Given the description of an element on the screen output the (x, y) to click on. 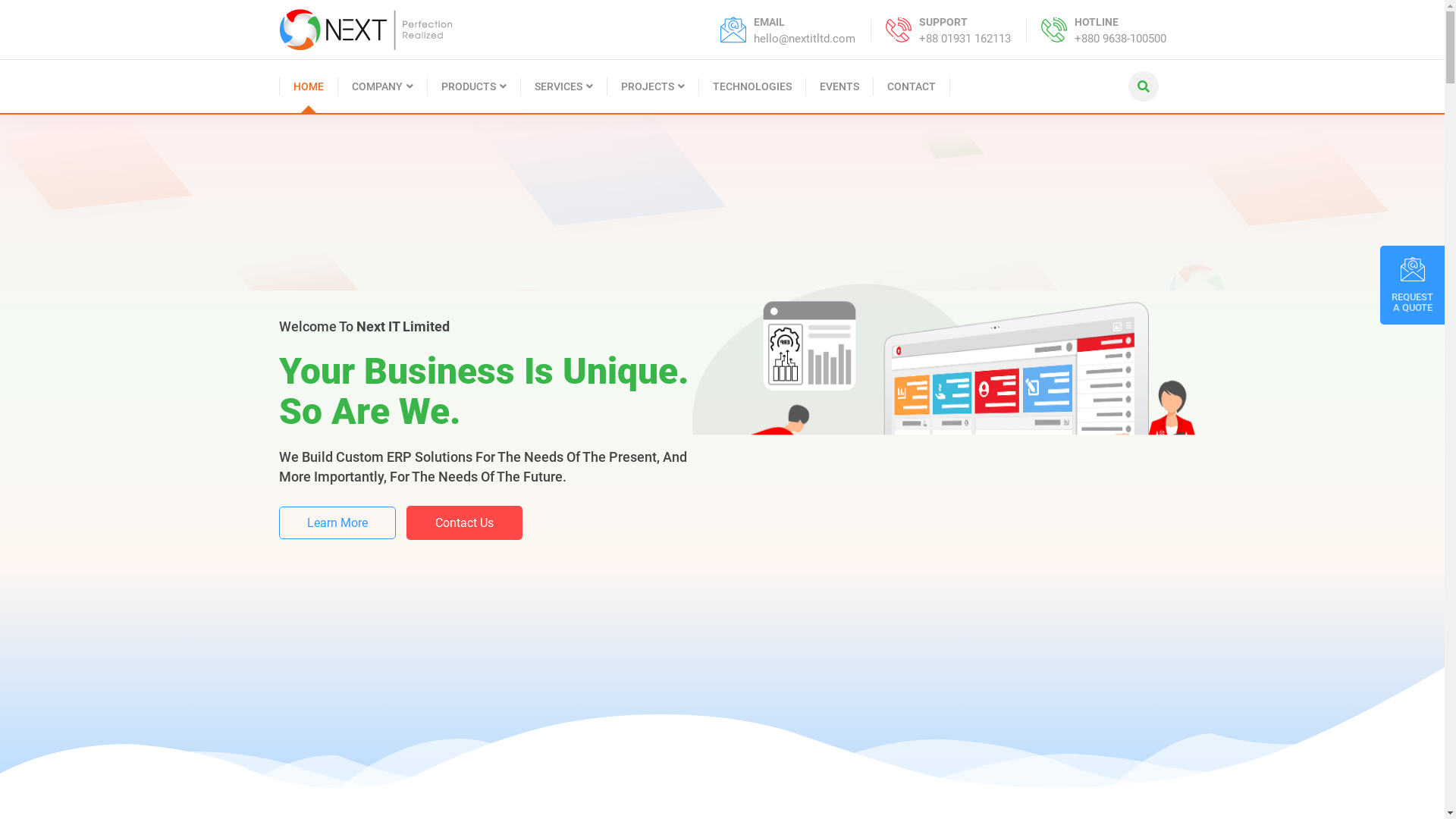
TECHNOLOGIES Element type: text (752, 86)
CONTACT Element type: text (911, 86)
Contact Us Element type: text (464, 547)
REQUEST
A QUOTE Element type: text (1412, 284)
PROJECTS Element type: text (652, 86)
SERVICES Element type: text (563, 86)
EVENTS Element type: text (838, 86)
COMPANY Element type: text (382, 86)
PRODUCTS Element type: text (473, 86)
HOME Element type: text (308, 86)
Learn More Element type: text (337, 547)
